Given the description of an element on the screen output the (x, y) to click on. 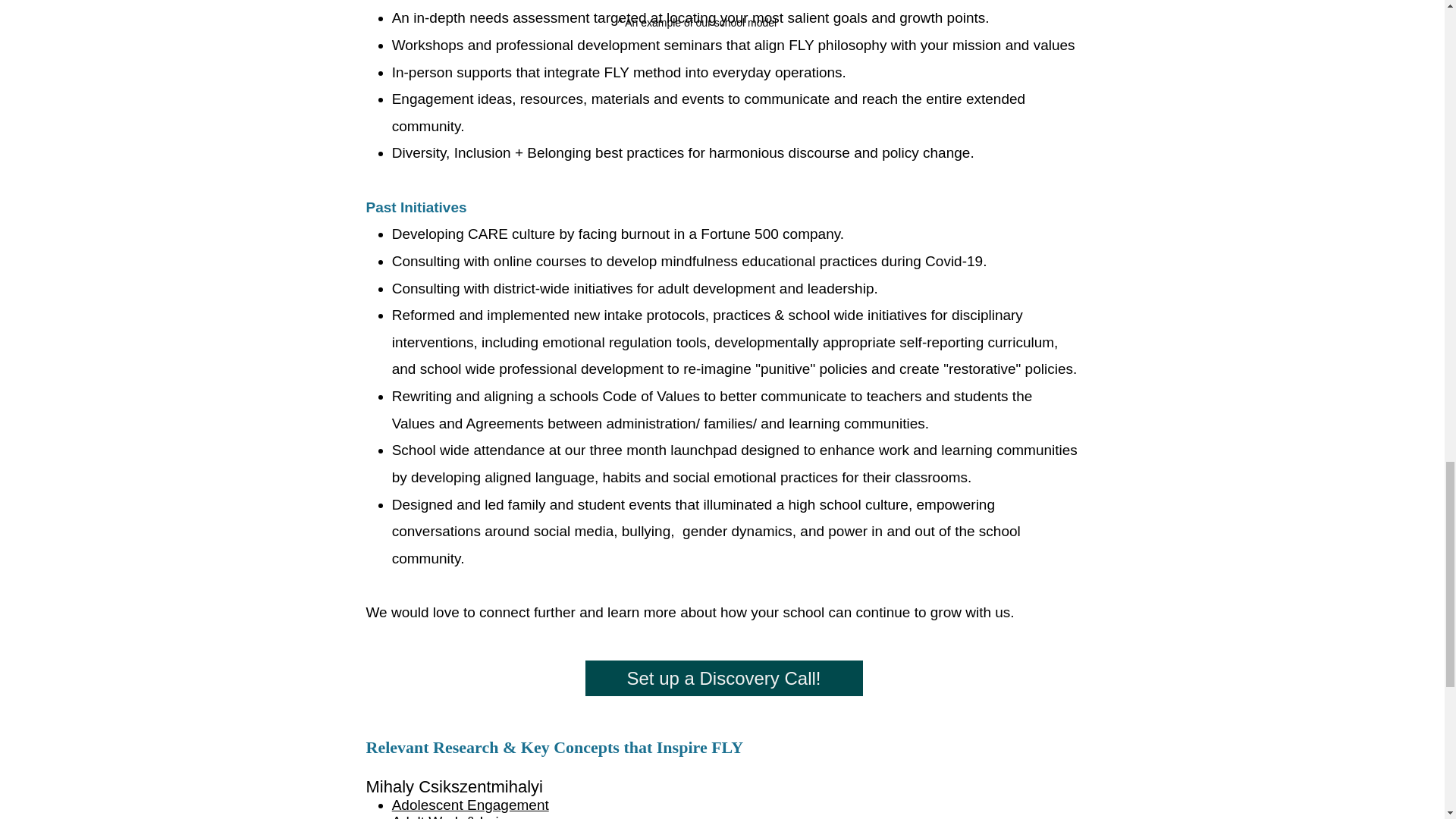
Adolescent Engagement (469, 804)
Set up a Discovery Call! (724, 678)
